Given the description of an element on the screen output the (x, y) to click on. 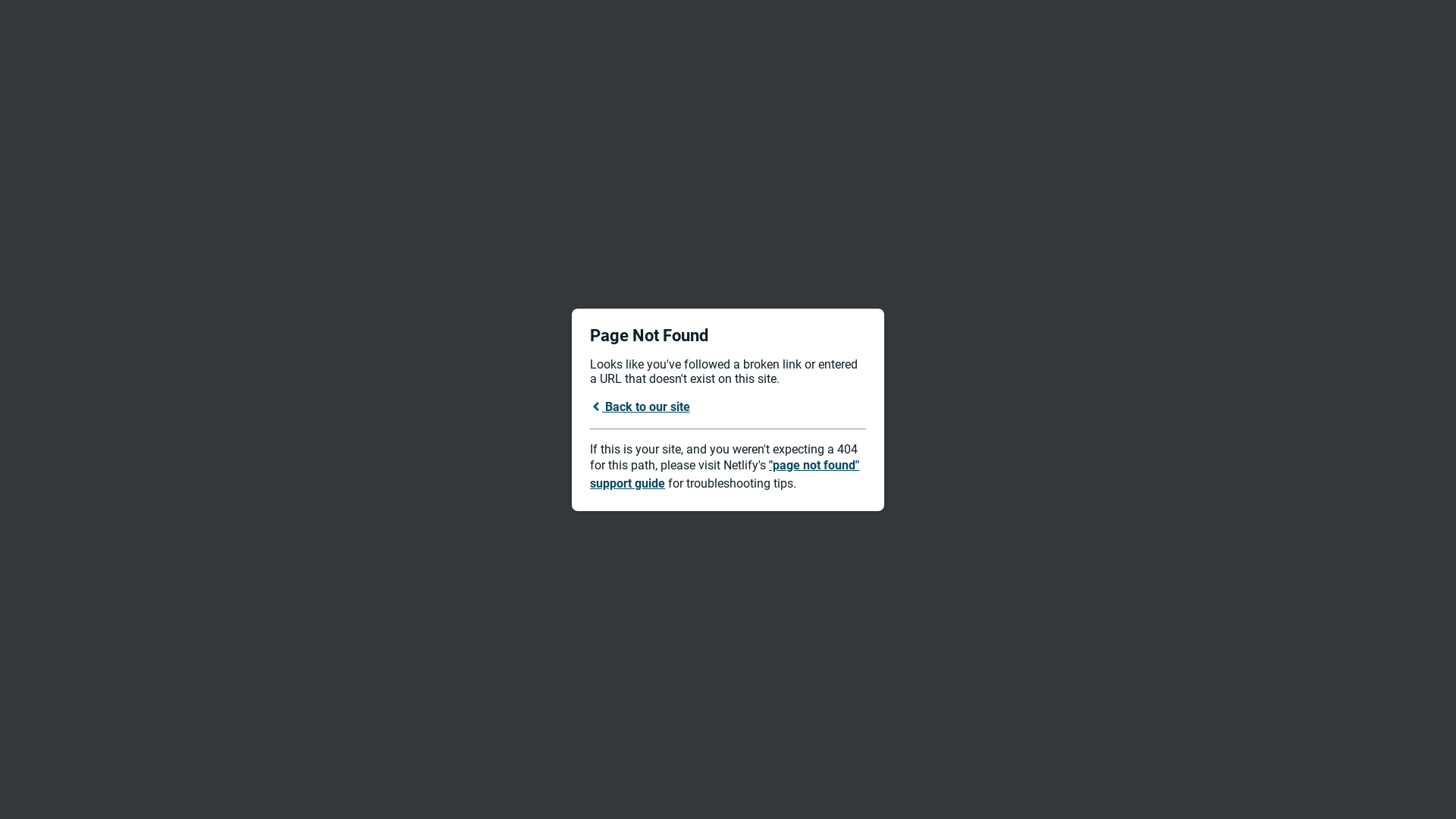
"page not found" support guide Element type: text (724, 474)
Back to our site Element type: text (639, 405)
